Given the description of an element on the screen output the (x, y) to click on. 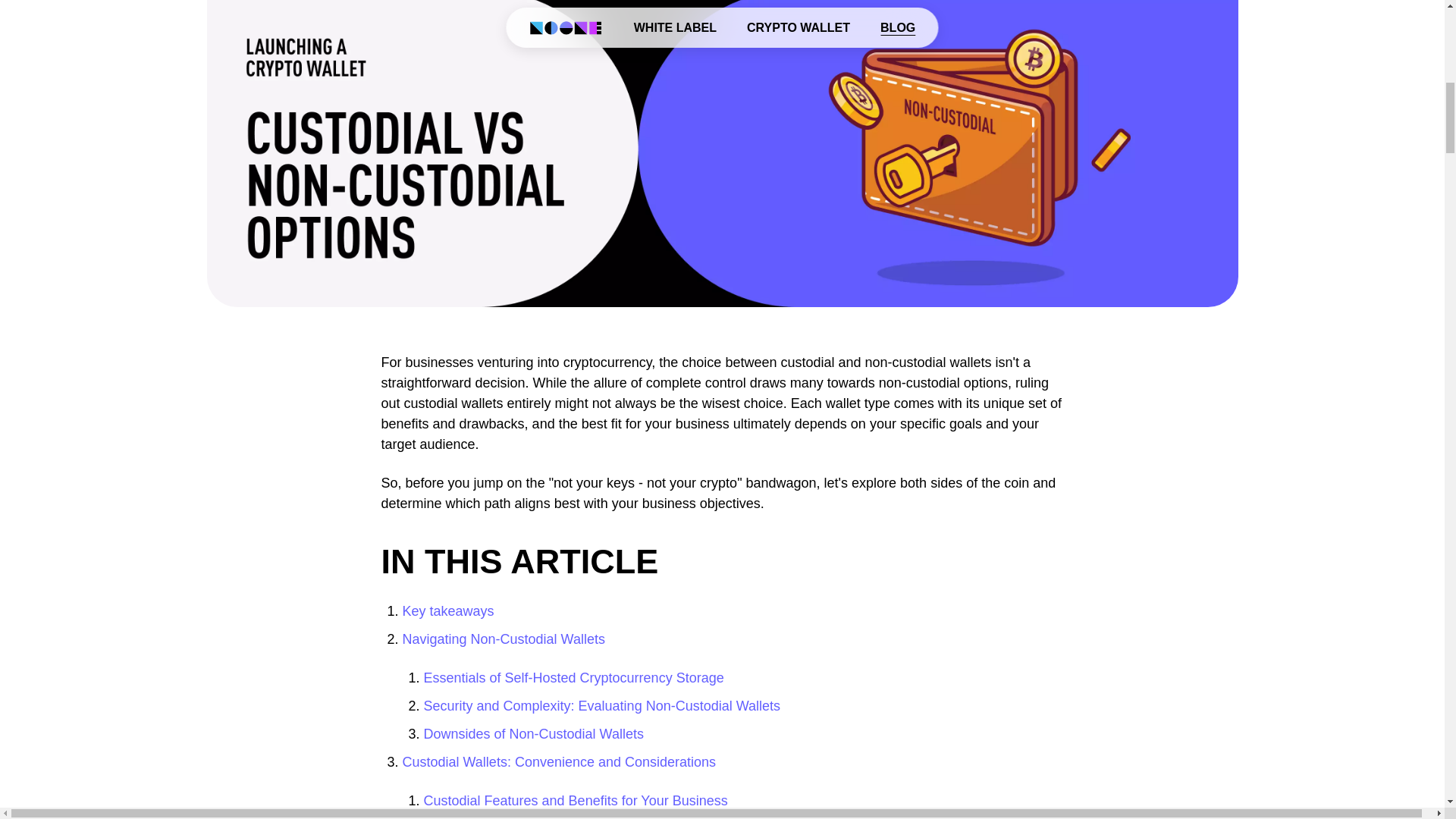
Security and Complexity: Evaluating Non-Custodial Wallets (601, 705)
Downsides of Non-Custodial Wallets (533, 734)
Custodial Features and Benefits for Your Business (574, 800)
Key takeaways (447, 611)
Essentials of Self-Hosted Cryptocurrency Storage (573, 677)
Custodial Wallets: Convenience and Considerations (558, 761)
Navigating Non-Custodial Wallets (502, 639)
